Given the description of an element on the screen output the (x, y) to click on. 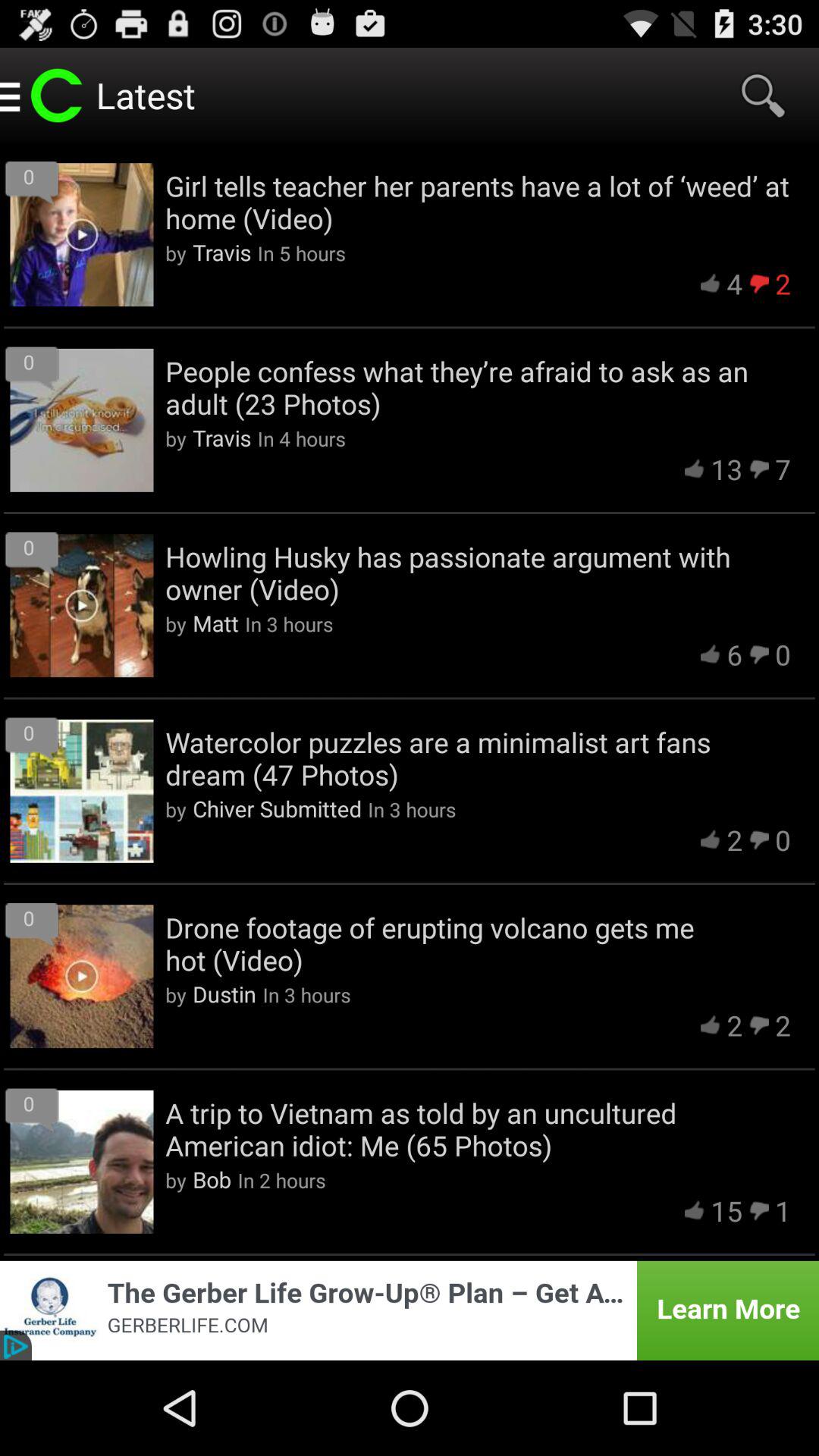
click item above matt (478, 572)
